Given the description of an element on the screen output the (x, y) to click on. 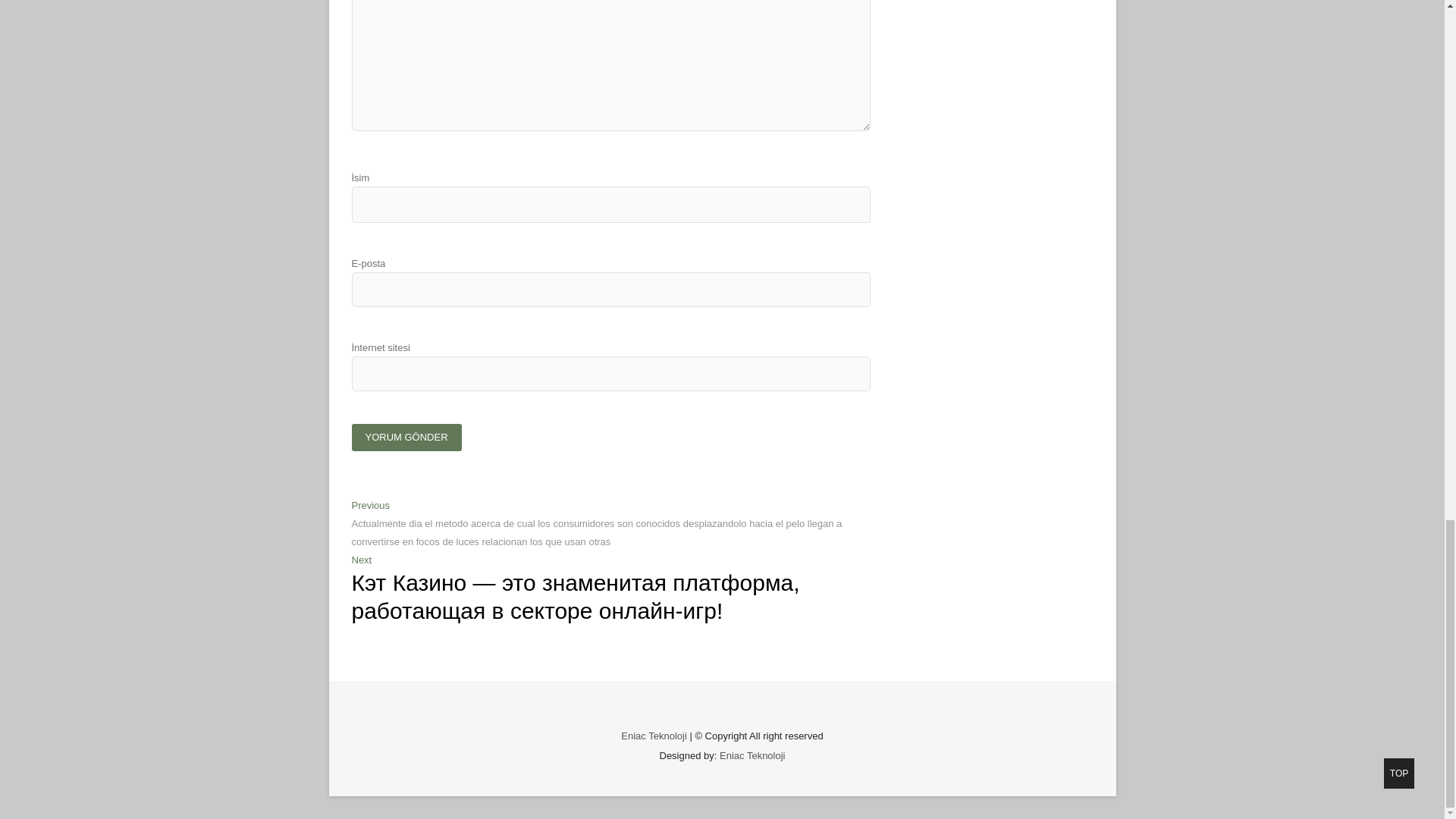
Eniac Teknoloji (653, 736)
Eniac Teknoloji (653, 736)
Eniac Teknoloji (751, 755)
Eniac Teknoloji (751, 755)
